Given the description of an element on the screen output the (x, y) to click on. 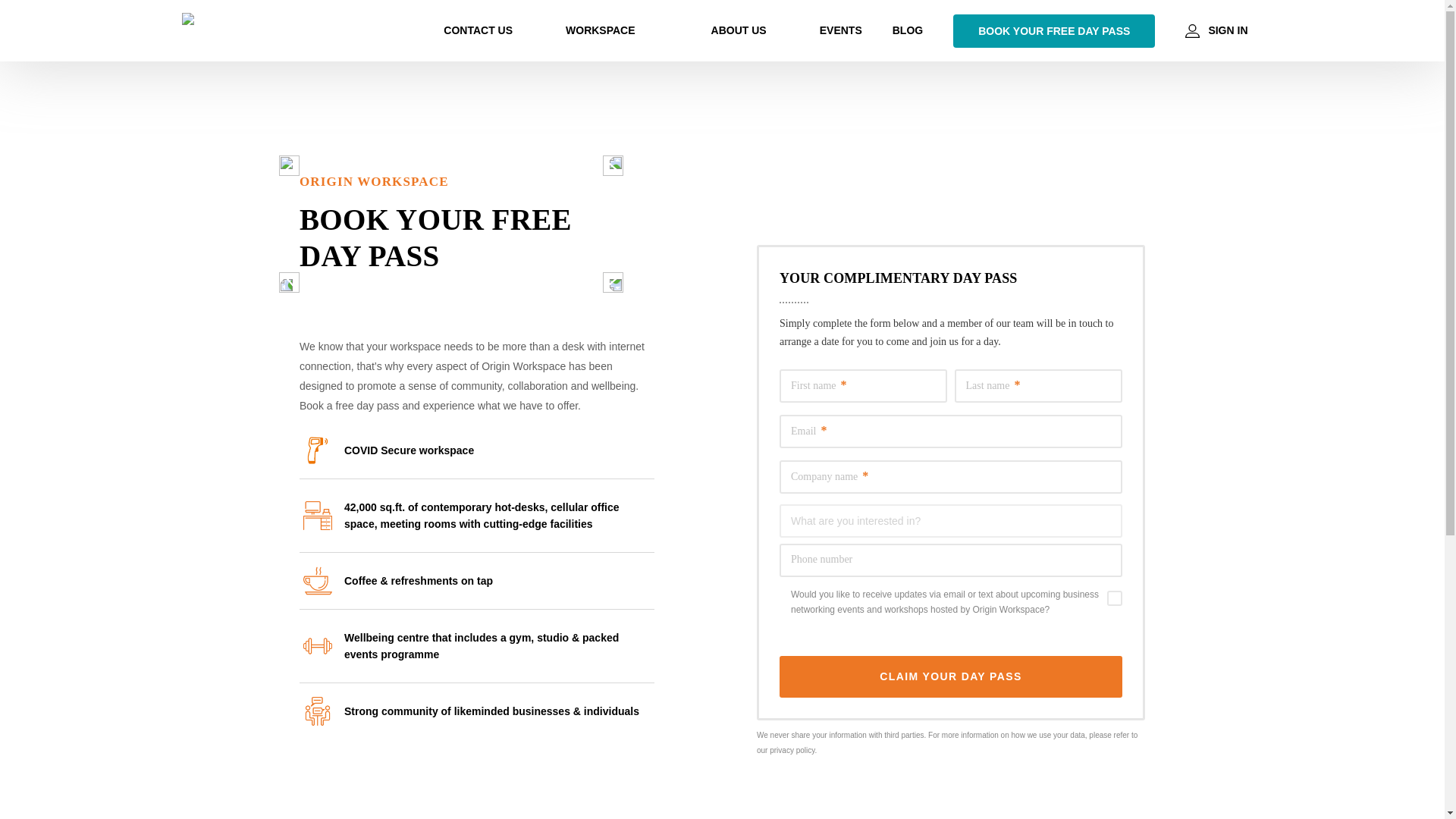
SIGN IN (1216, 30)
ABOUT US (739, 30)
BOOK YOUR FREE DAY PASS (1053, 30)
CONTACT US (478, 30)
Claim your day pass (950, 676)
WORKSPACE (600, 30)
Yes! Please keep me in the loop! (1114, 598)
